Given the description of an element on the screen output the (x, y) to click on. 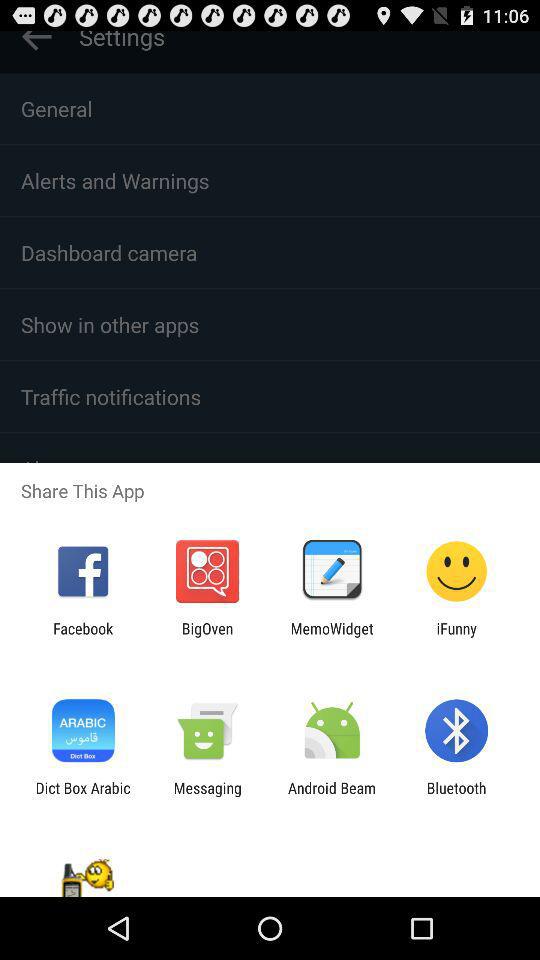
choose item next to bluetooth icon (332, 796)
